Given the description of an element on the screen output the (x, y) to click on. 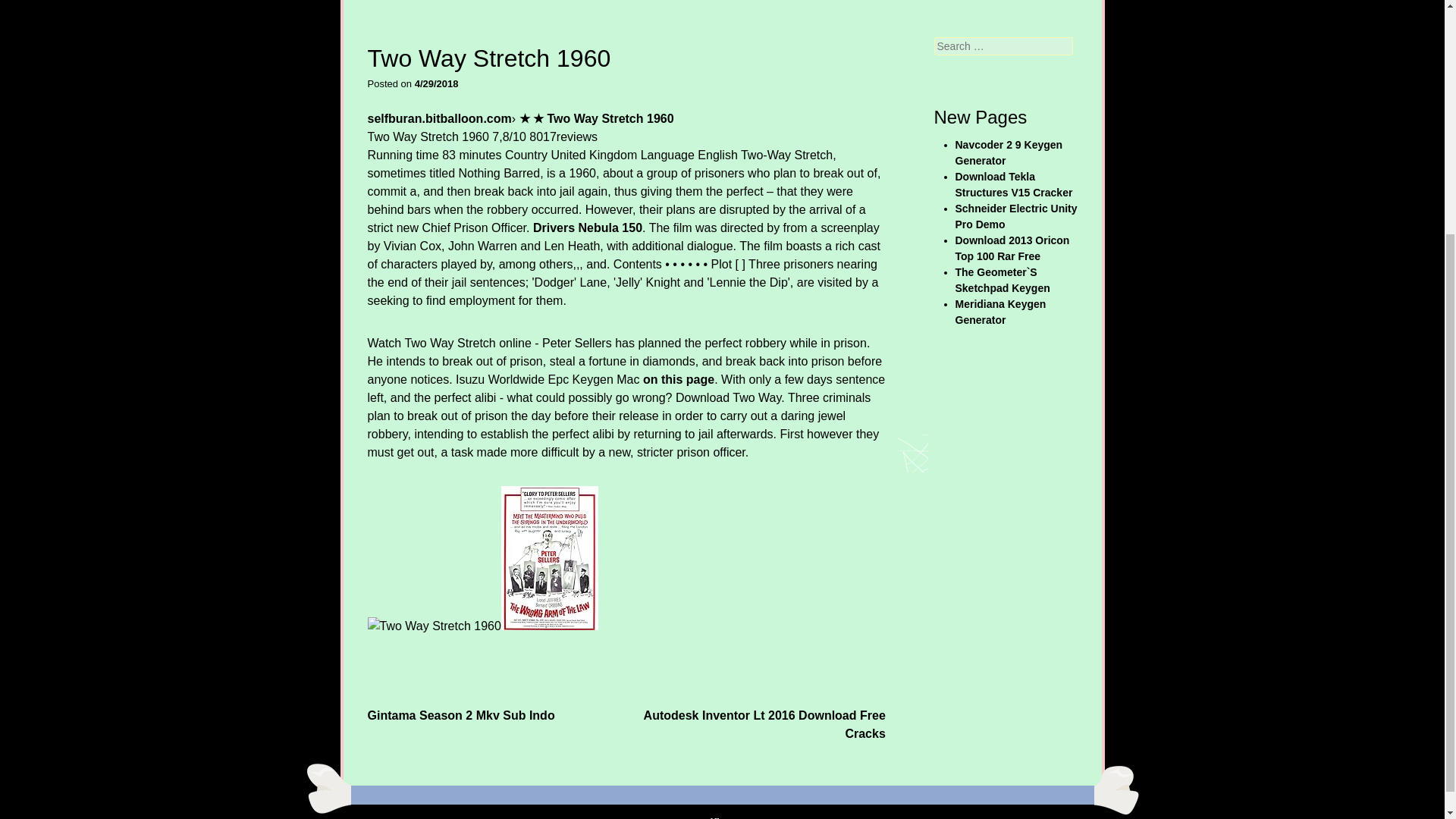
Gintama Season 2 Mkv Sub Indo (460, 714)
Navcoder 2 9 Keygen Generator (1008, 152)
Meridiana Keygen Generator (1000, 311)
Schneider Electric Unity Pro Demo (1016, 216)
selfburan.bitballoon.com (438, 118)
Download Tekla Structures V15 Cracker (1014, 184)
Autodesk Inventor Lt 2016 Download Free Cracks (764, 723)
Drivers Nebula 150 (587, 227)
Download 2013 Oricon Top 100 Rar Free (1012, 248)
on this page (678, 379)
Drivers Nebula 150 (587, 227)
Two Way Stretch 1960 (433, 626)
